Given the description of an element on the screen output the (x, y) to click on. 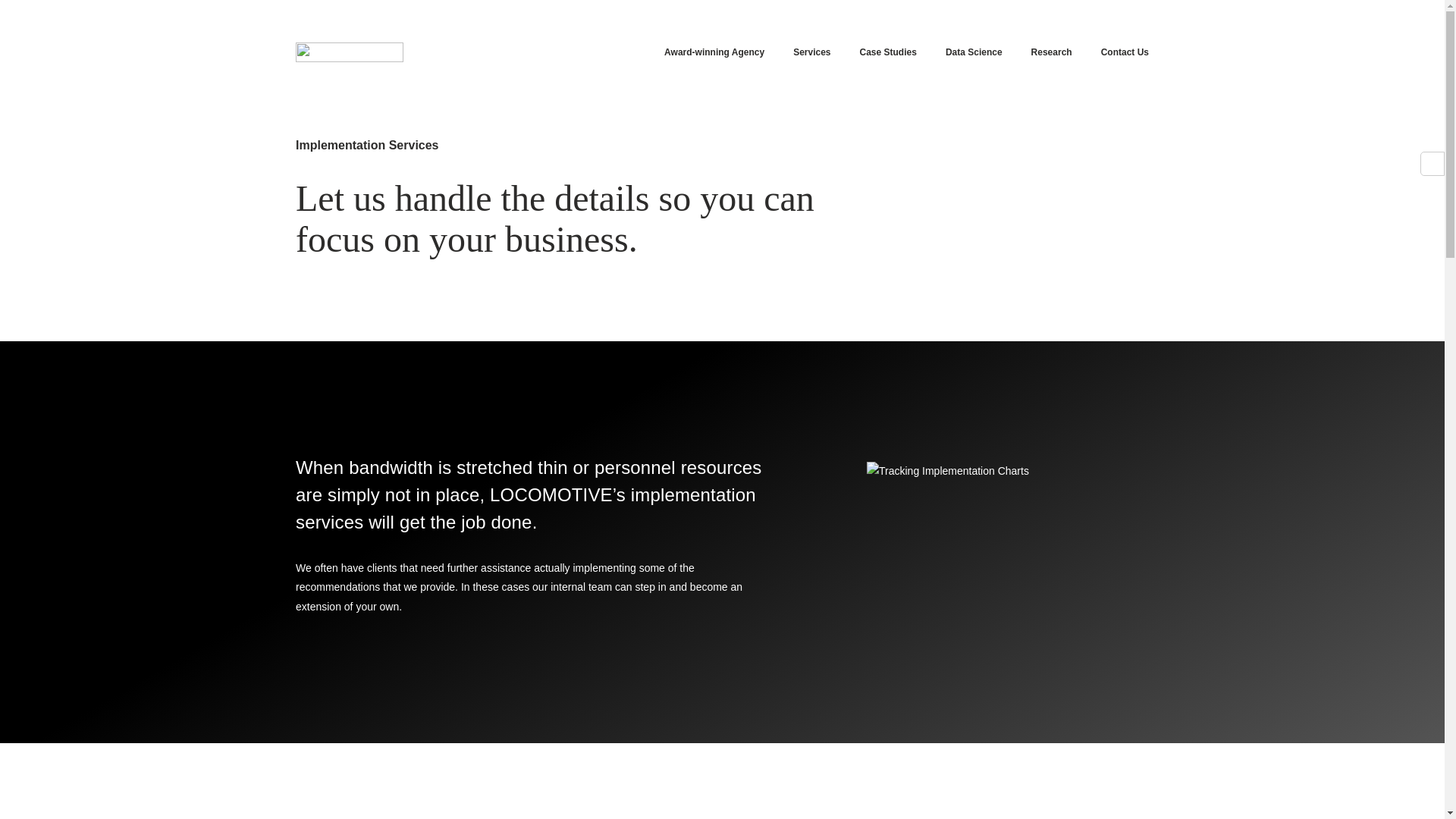
Research (1050, 51)
Contact Us (1124, 51)
Award-winning Agency (713, 51)
Services (811, 51)
Locomotive Agency (349, 52)
Data Science (973, 51)
Case Studies (888, 51)
